Given the description of an element on the screen output the (x, y) to click on. 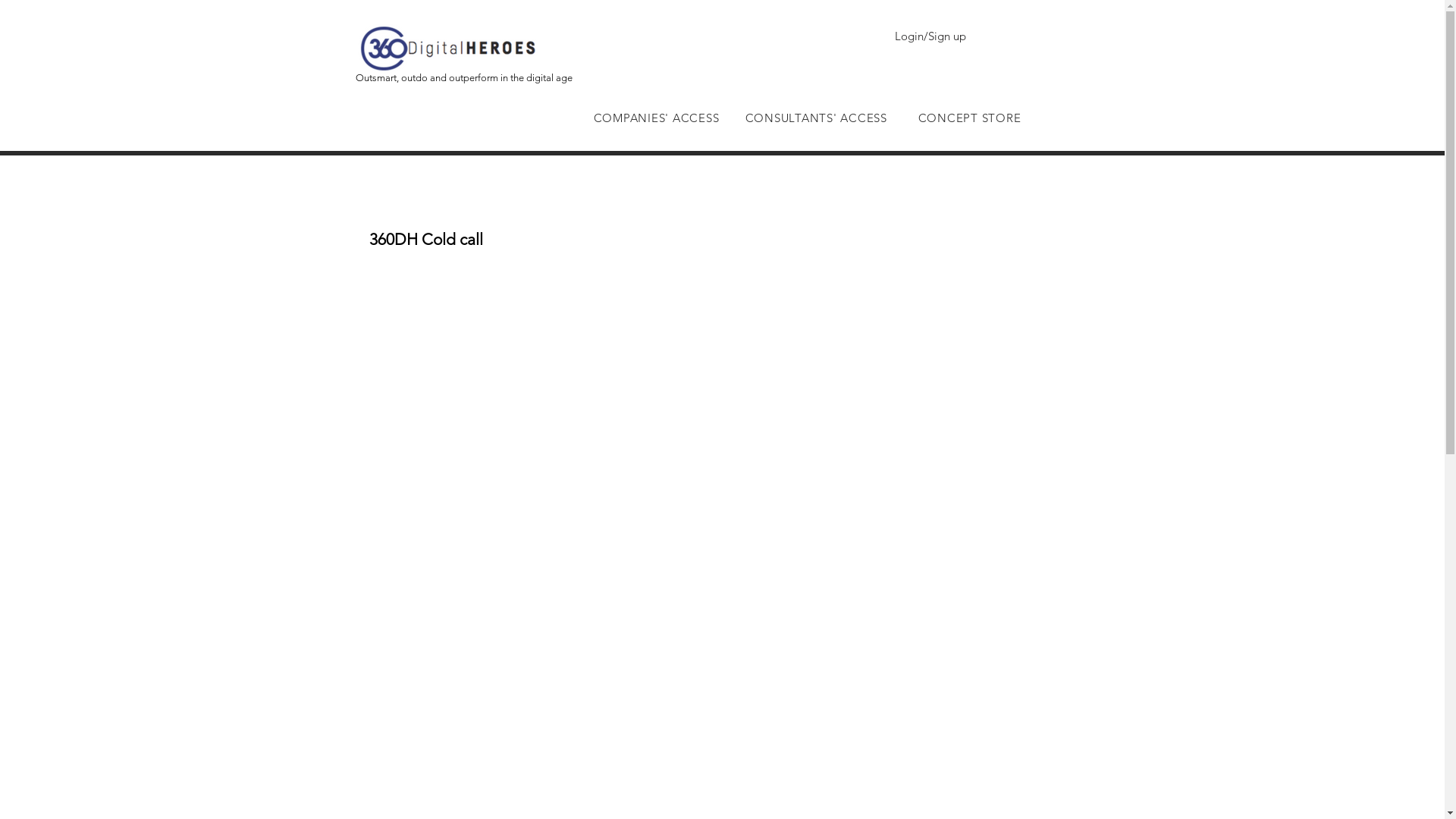
CONCEPT STORE Element type: text (968, 117)
Login/Sign up Element type: text (930, 35)
COMPANIES' ACCESS Element type: text (655, 117)
CONSULTANTS' ACCESS Element type: text (815, 117)
